Given the description of an element on the screen output the (x, y) to click on. 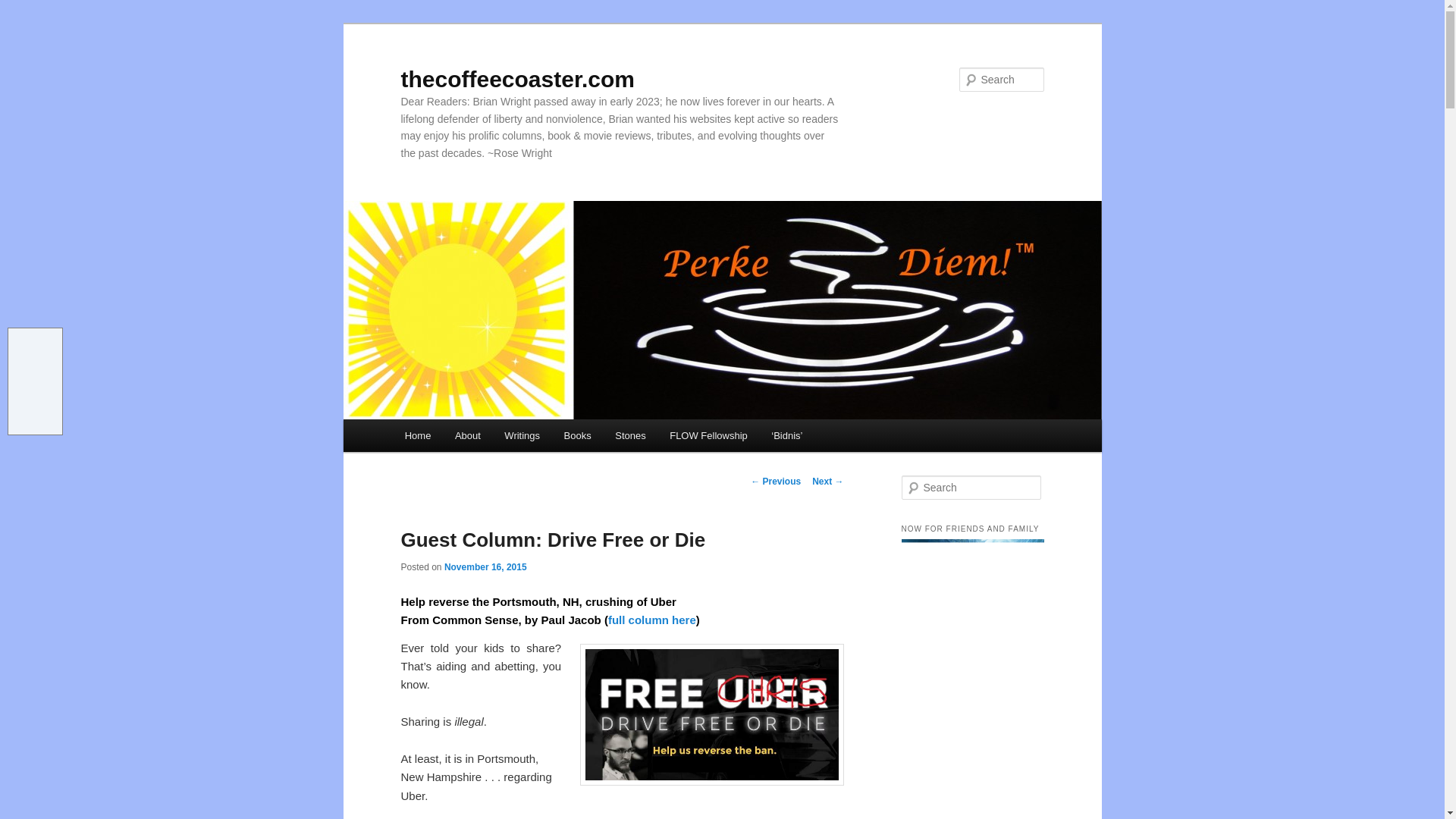
About (467, 435)
Stones (630, 435)
Search (24, 8)
thecoffeecoaster.com (516, 78)
Books (577, 435)
full column here (651, 619)
22:56 (485, 566)
Home (417, 435)
FLOW Fellowship (708, 435)
